Given the description of an element on the screen output the (x, y) to click on. 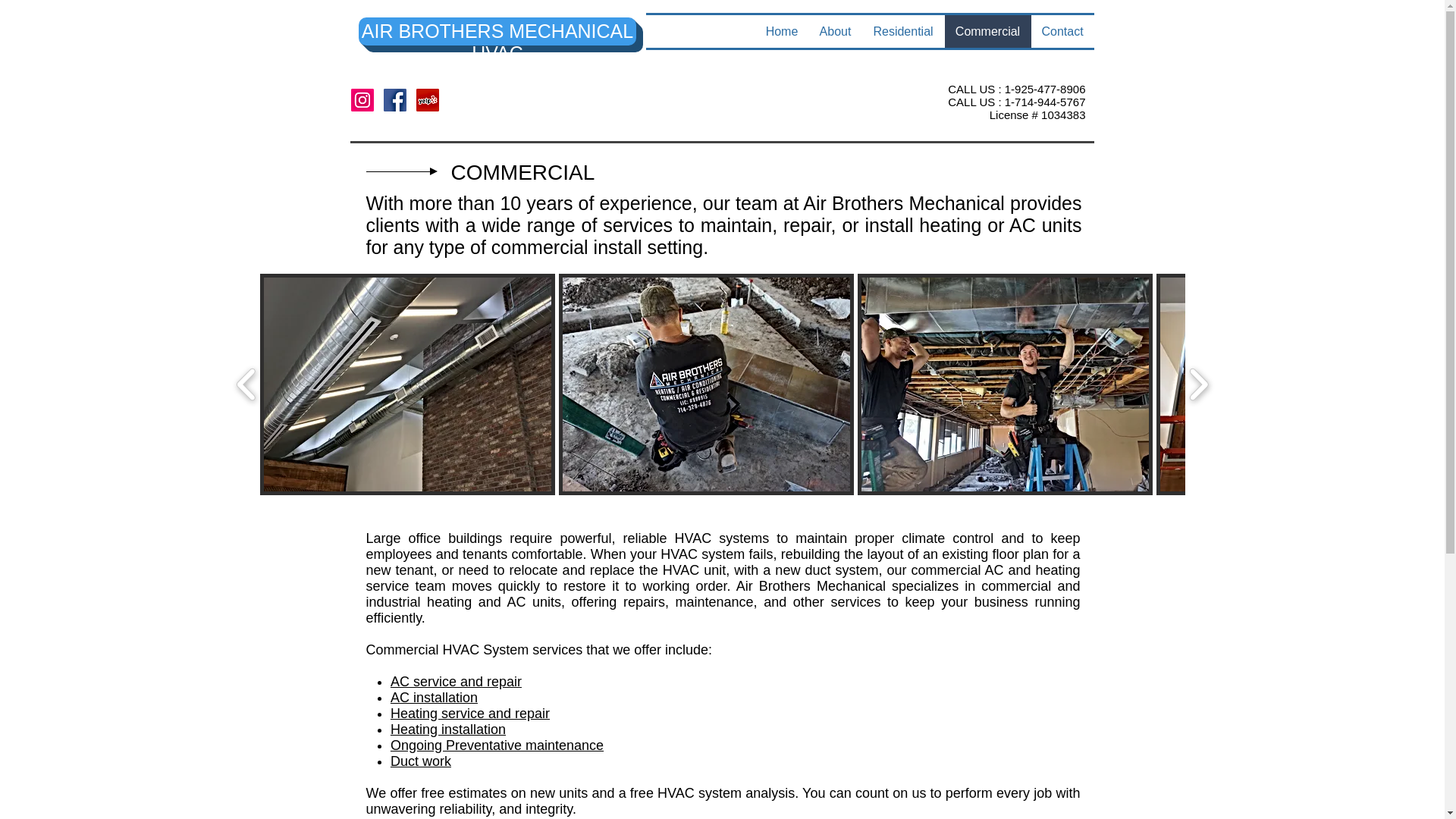
Commercial (987, 31)
AC service and repair (455, 681)
About (834, 31)
Home (782, 31)
Heating service and repair (470, 713)
AIR BROTHERS MECHANICAL HVAC (497, 41)
Heating installation (447, 729)
Residential (902, 31)
Duct work (420, 761)
AC installation (433, 697)
